Given the description of an element on the screen output the (x, y) to click on. 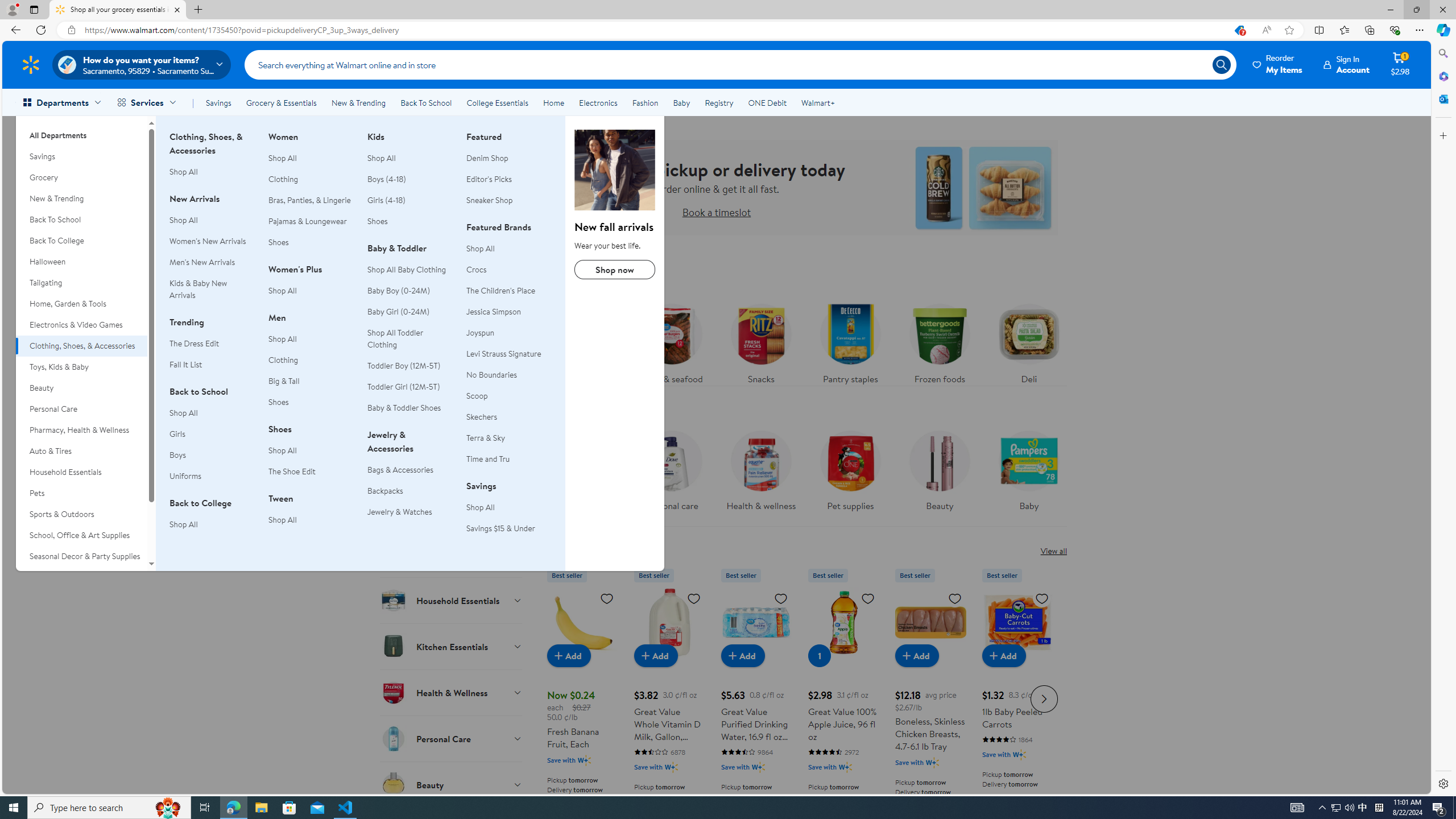
Fall It List (185, 364)
Joyspun (480, 332)
Terra & Sky (485, 437)
Fresh Food (451, 323)
Auto & Tires (81, 450)
Pets (81, 493)
Registry (718, 102)
Walmart+ (817, 102)
Baby Girl (0-24M) (409, 311)
Pantry staples (850, 340)
